Given the description of an element on the screen output the (x, y) to click on. 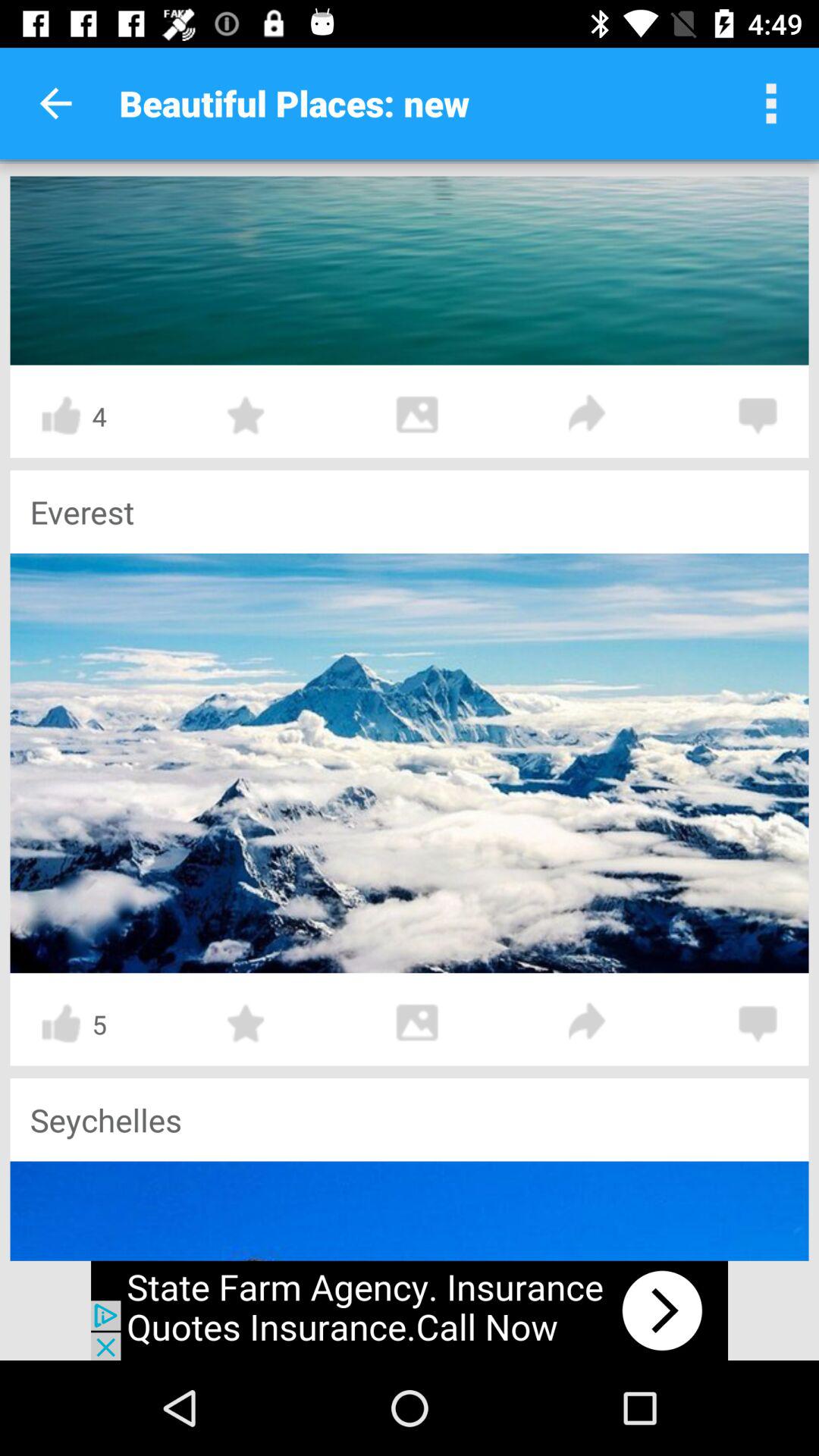
message button (757, 415)
